Given the description of an element on the screen output the (x, y) to click on. 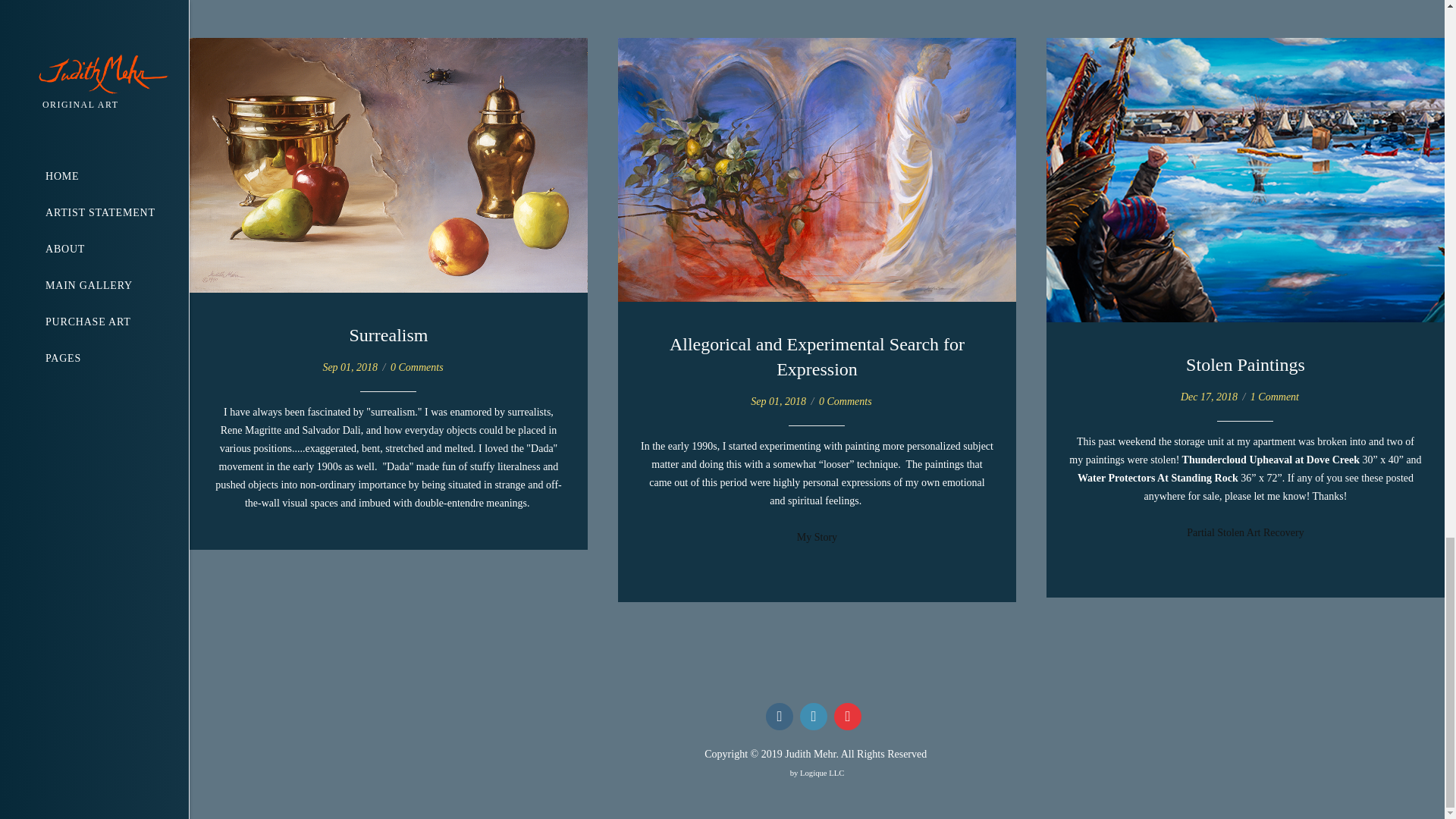
My Story (816, 536)
Partial Stolen Art Recovery (1244, 532)
1 Comment (1274, 396)
Stolen Paintings (1245, 364)
Instagram (779, 716)
0 Comments (417, 367)
Twitter (813, 716)
0 Comments (845, 401)
Surrealism (388, 334)
Allegorical and Experimental Search for Expression (816, 356)
Pinterest (847, 716)
